Given the description of an element on the screen output the (x, y) to click on. 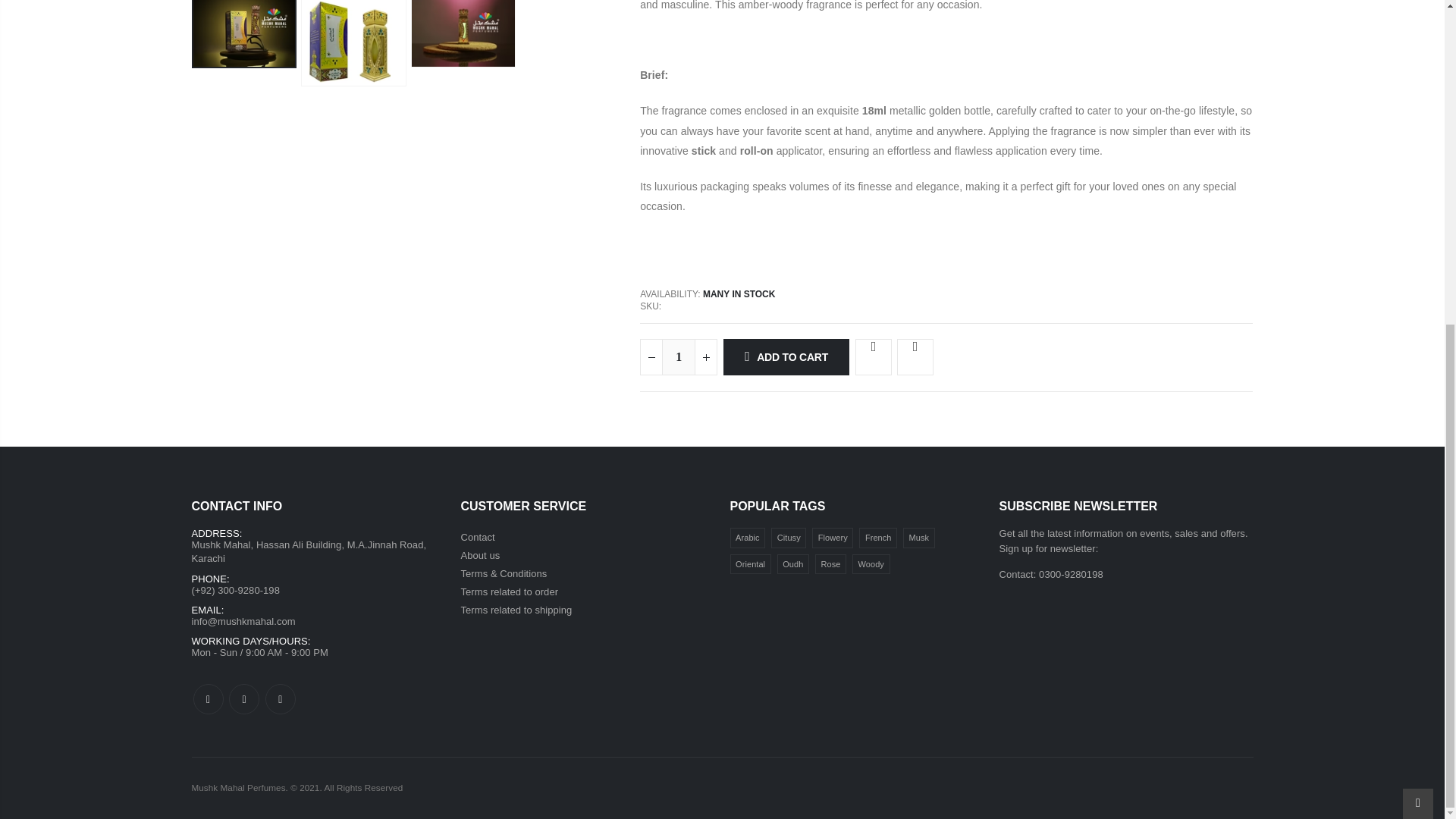
1 (678, 357)
Add to compare (914, 357)
Add to wishlist (873, 357)
